Given the description of an element on the screen output the (x, y) to click on. 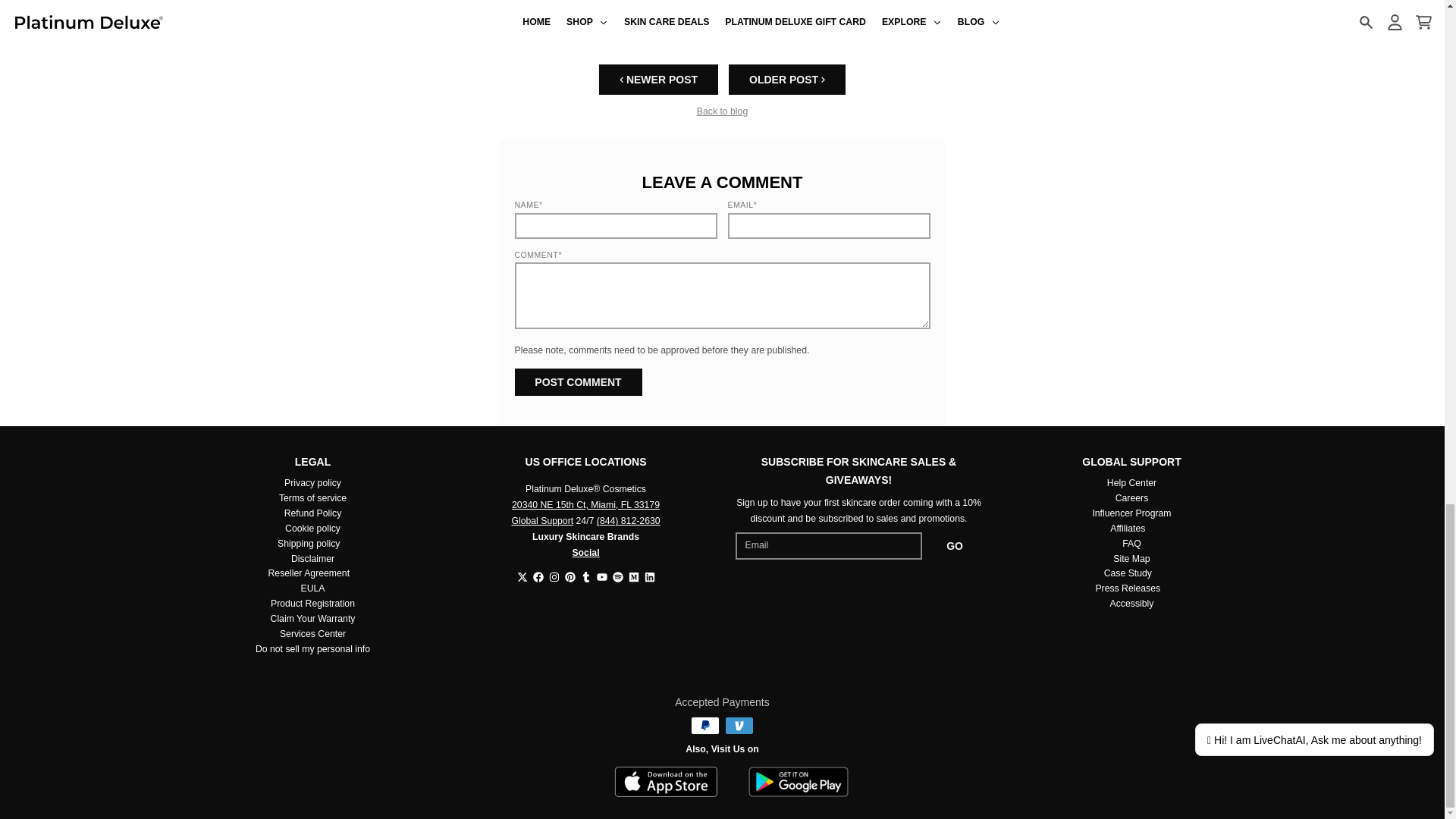
Post comment (577, 381)
Medium - Platinum Deluxe Cosmetics (633, 576)
Facebook - Platinum Deluxe Cosmetics (537, 576)
Spotify - Platinum Deluxe Cosmetics (617, 576)
Pinterest - Platinum Deluxe Cosmetics (569, 576)
Instagram - Platinum Deluxe Cosmetics (553, 576)
YouTube - Platinum Deluxe Cosmetics (601, 576)
LinkedIn - Platinum Deluxe Cosmetics (650, 576)
Twitter - Platinum Deluxe Cosmetics (521, 576)
Tumblr - Platinum Deluxe Cosmetics (585, 576)
